Given the description of an element on the screen output the (x, y) to click on. 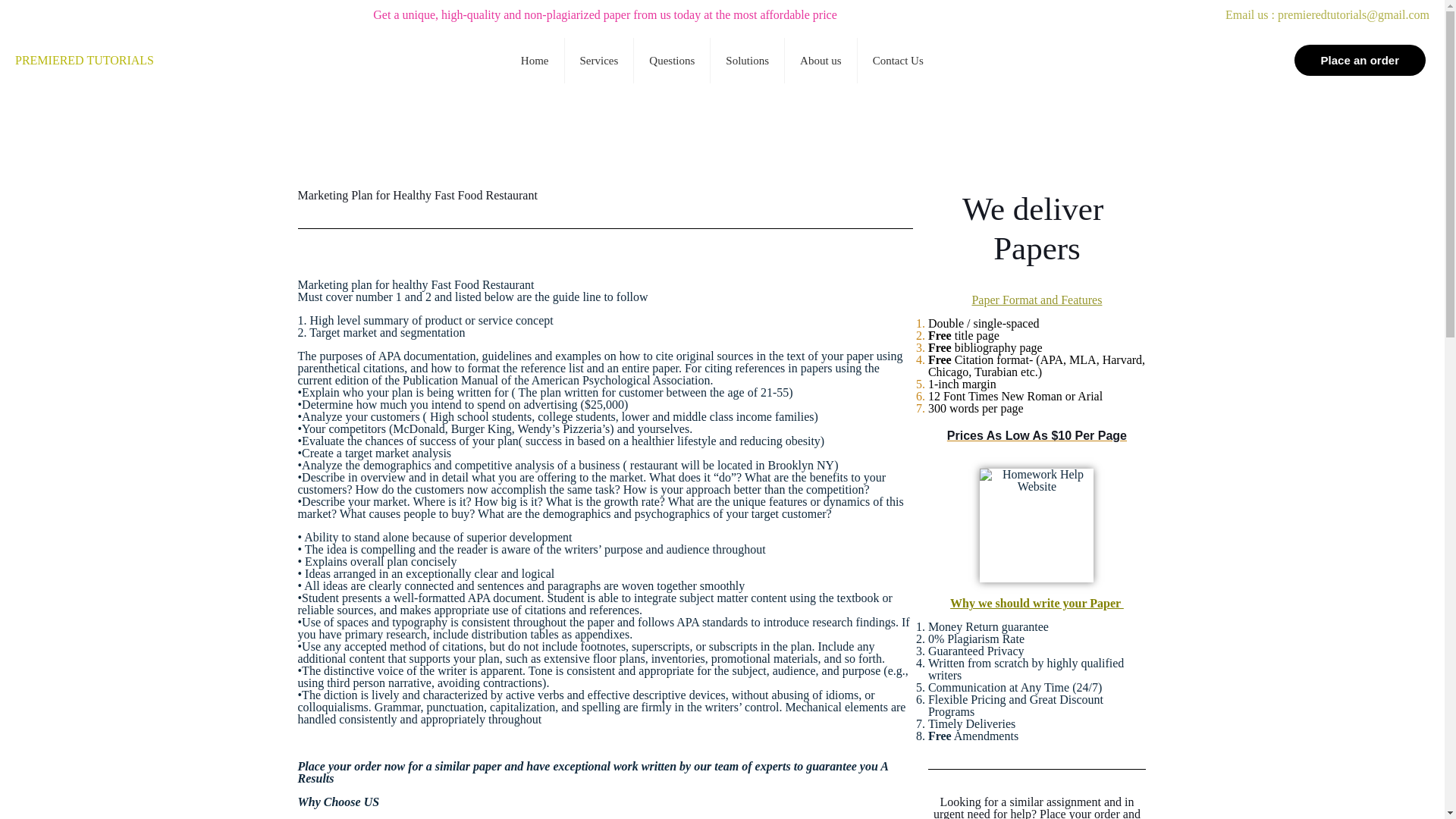
Services (599, 60)
Home (534, 60)
About us (820, 60)
Place an order (1359, 59)
Solutions (747, 60)
Questions (671, 60)
Contact Us (898, 60)
